Given the description of an element on the screen output the (x, y) to click on. 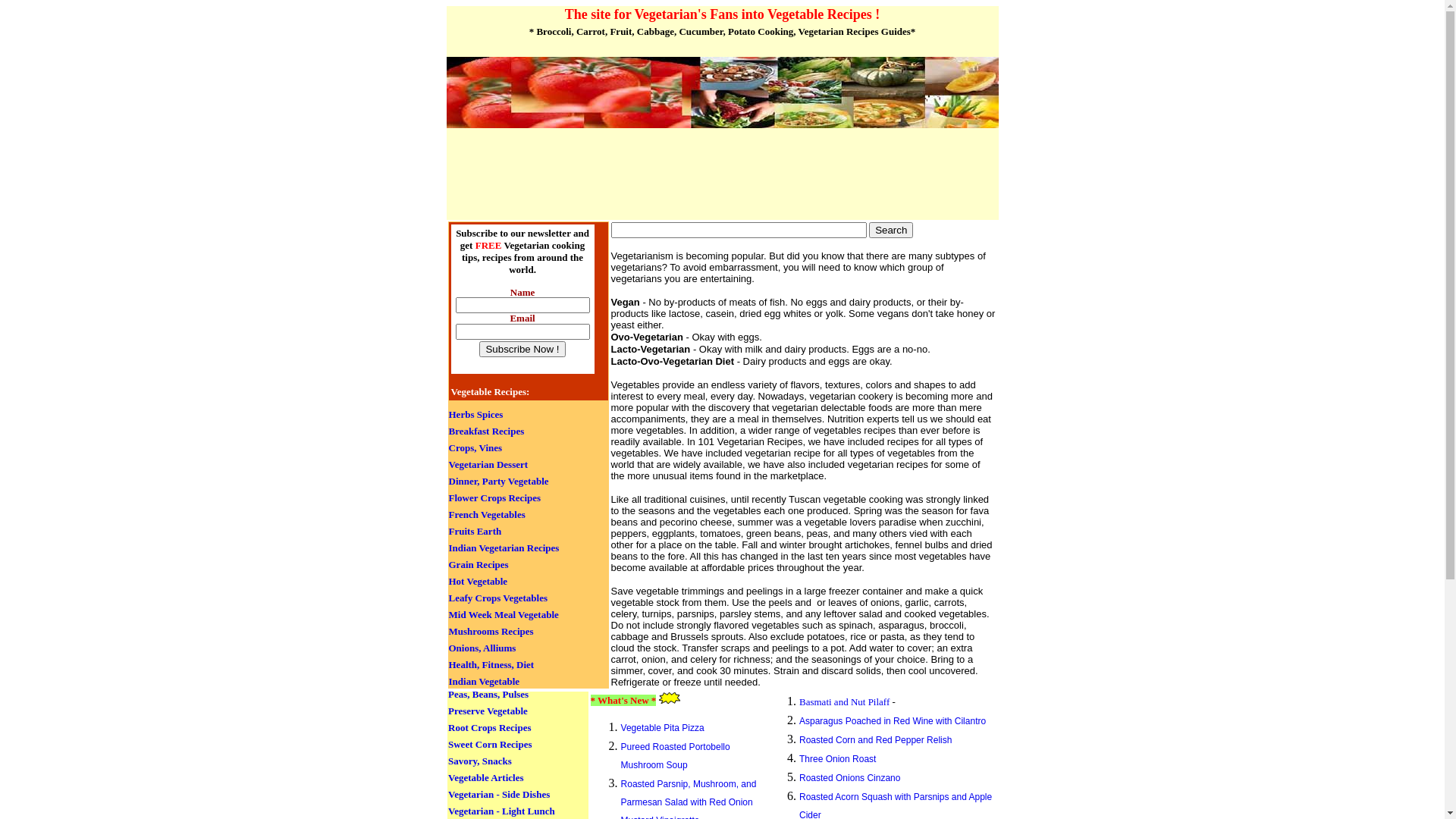
Preserve Vegetable Element type: text (487, 710)
Leafy Crops Vegetables Element type: text (497, 597)
Mid Week Meal Vegetable Element type: text (503, 614)
Subscribe Now ! Element type: text (521, 349)
Vegetable Articles Element type: text (486, 777)
Asparagus Poached in Red Wine with Cilantro Element type: text (892, 720)
Grain Recipes Element type: text (478, 564)
Crops, Vines Element type: text (475, 447)
Sweet Corn Recipes Element type: text (489, 743)
Advertisement Element type: hover (721, 145)
French Vegetables Element type: text (486, 514)
Health, Fitness, Diet Element type: text (491, 663)
Onions, Alliums Element type: text (482, 647)
Three Onion Roast Element type: text (837, 758)
Vegetable Pita Pizza Element type: text (662, 727)
Mushrooms Recipes Element type: text (490, 631)
Breakfast Recipes Element type: text (486, 430)
Advertisement Element type: hover (625, 176)
Vegetarian - Side Dishes Element type: text (498, 794)
Hot Vegetable Element type: text (478, 580)
Vegetarian Dessert Element type: text (488, 464)
Vegetarian - Light Lunch Element type: text (501, 810)
Indian Vegetarian Recipes Element type: text (503, 547)
Indian Vegetable Element type: text (484, 680)
Roasted Onions Cinzano Element type: text (849, 777)
Herbs Spices Element type: text (475, 414)
Pureed Roasted Portobello Mushroom Soup Element type: text (675, 755)
Root Crops Recipes Element type: text (489, 727)
Dinner, Party Vegetable Element type: text (498, 480)
Roasted Corn and Red Pepper Relish Element type: text (875, 739)
Peas, Beans, Pulses Element type: text (488, 693)
Savory, Snacks Element type: text (479, 760)
Fruits Earth Element type: text (475, 530)
Search Element type: text (891, 230)
Flower Crops Recipes Element type: text (494, 497)
Basmati and Nut Pilaff Element type: text (844, 701)
